Given the description of an element on the screen output the (x, y) to click on. 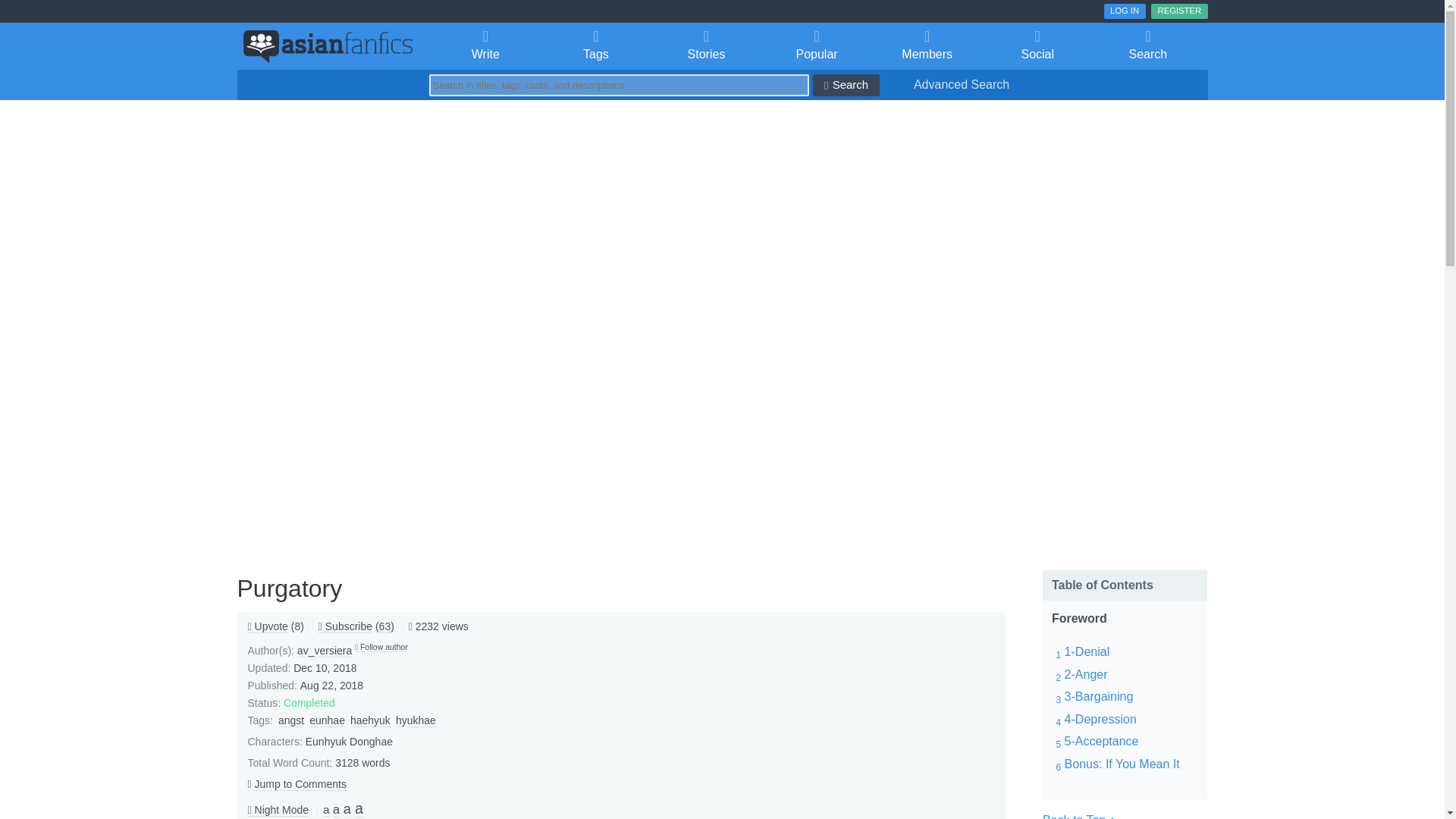
Stories (705, 45)
Search (1148, 45)
Write (485, 45)
Members (927, 45)
REGISTER (1179, 10)
Social (1037, 45)
Popular (816, 45)
LOG IN (1124, 10)
